Given the description of an element on the screen output the (x, y) to click on. 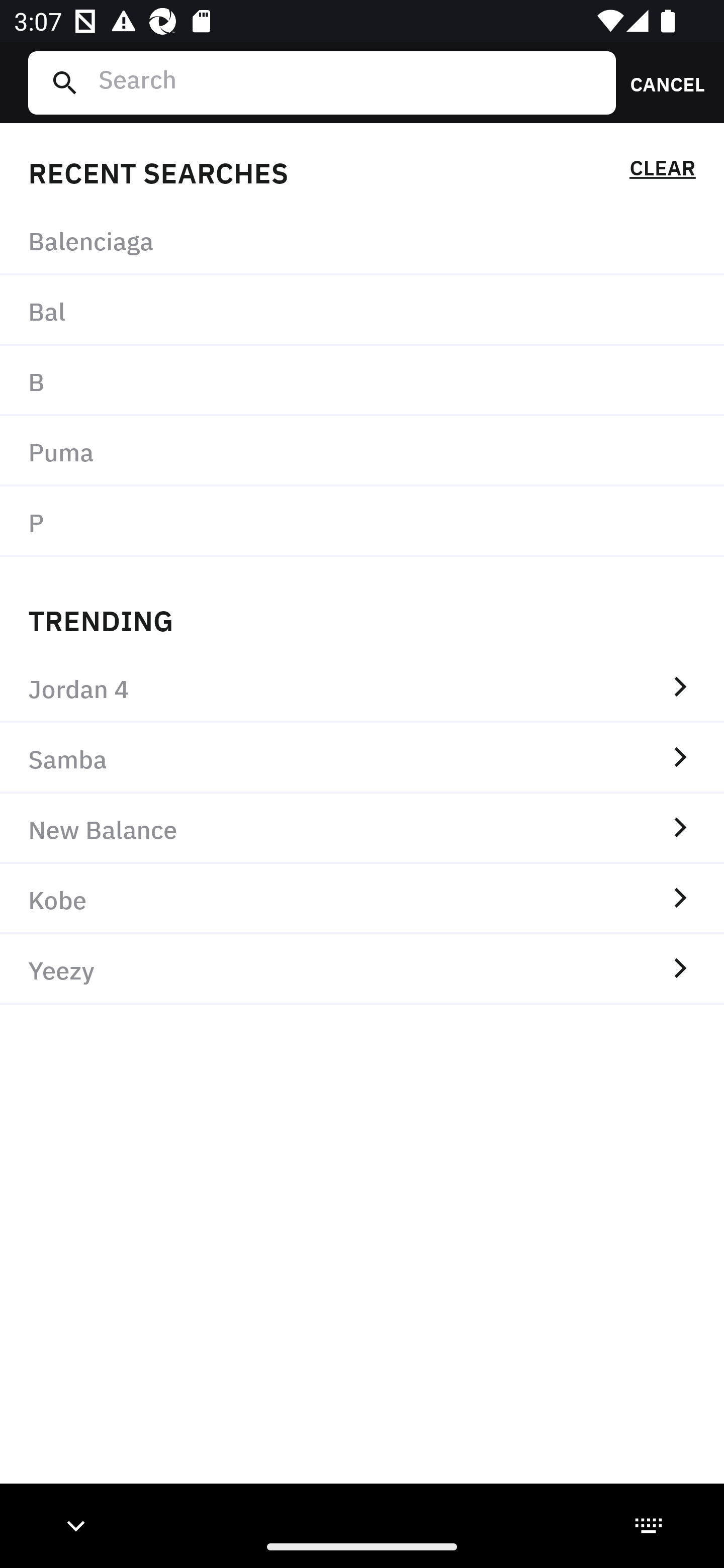
CANCEL (660, 82)
Search (349, 82)
CLEAR (662, 170)
Balenciaga (362, 240)
Bal (362, 310)
B (362, 380)
Puma (362, 450)
P (362, 521)
Jordan 4  (362, 687)
Samba  (362, 757)
New Balance  (362, 828)
Kobe  (362, 898)
Yeezy  (362, 969)
